Given the description of an element on the screen output the (x, y) to click on. 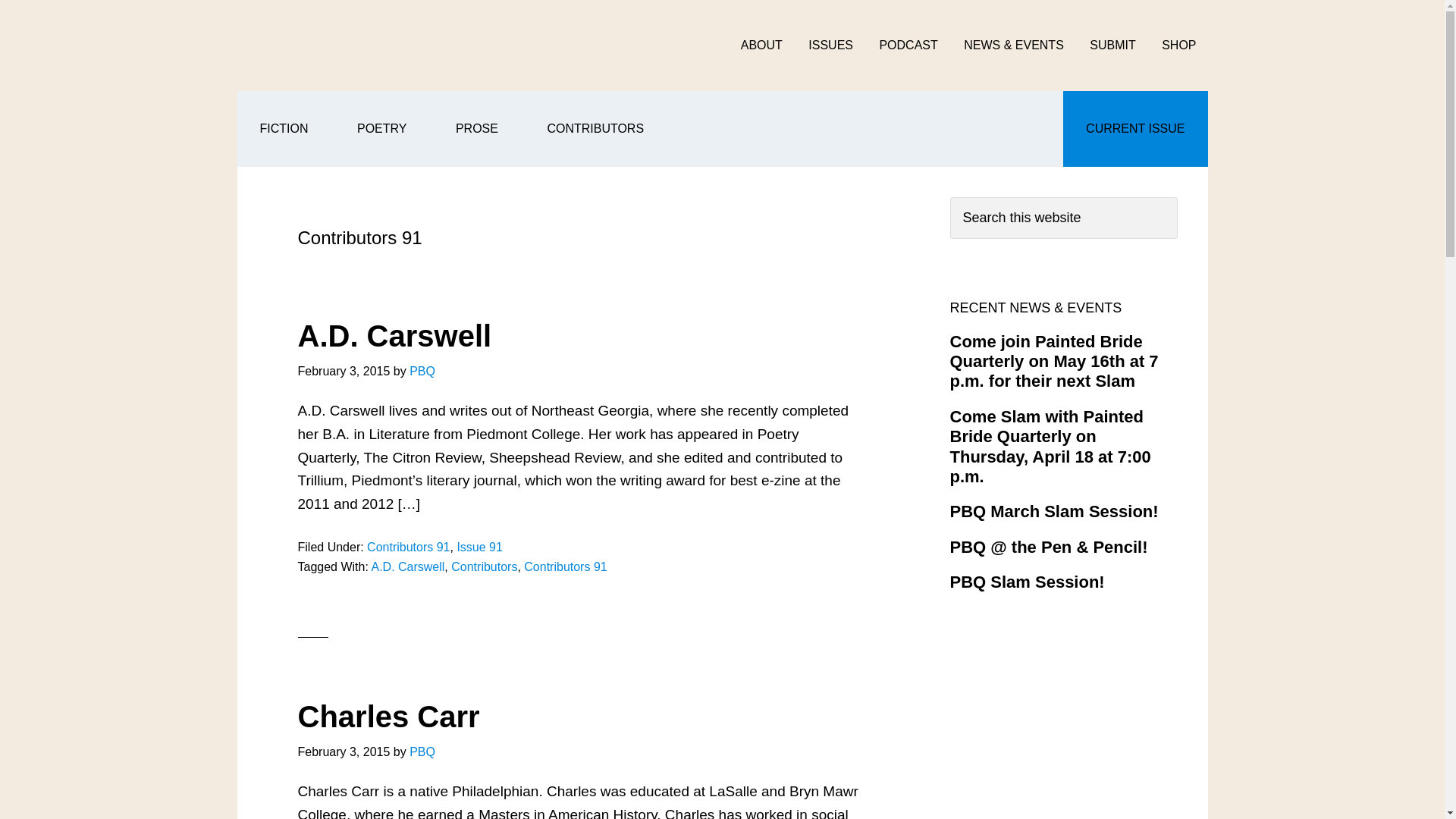
Contributors (483, 566)
Issue 91 (479, 546)
A.D. Carswell (394, 335)
Painted Bride Quarterly (396, 45)
POETRY (381, 128)
Charles Carr (388, 716)
CURRENT ISSUE (1134, 128)
FICTION (282, 128)
Contributors 91 (407, 546)
Contributors 91 (565, 566)
PROSE (476, 128)
CONTRIBUTORS (595, 128)
PODCAST (908, 45)
